Given the description of an element on the screen output the (x, y) to click on. 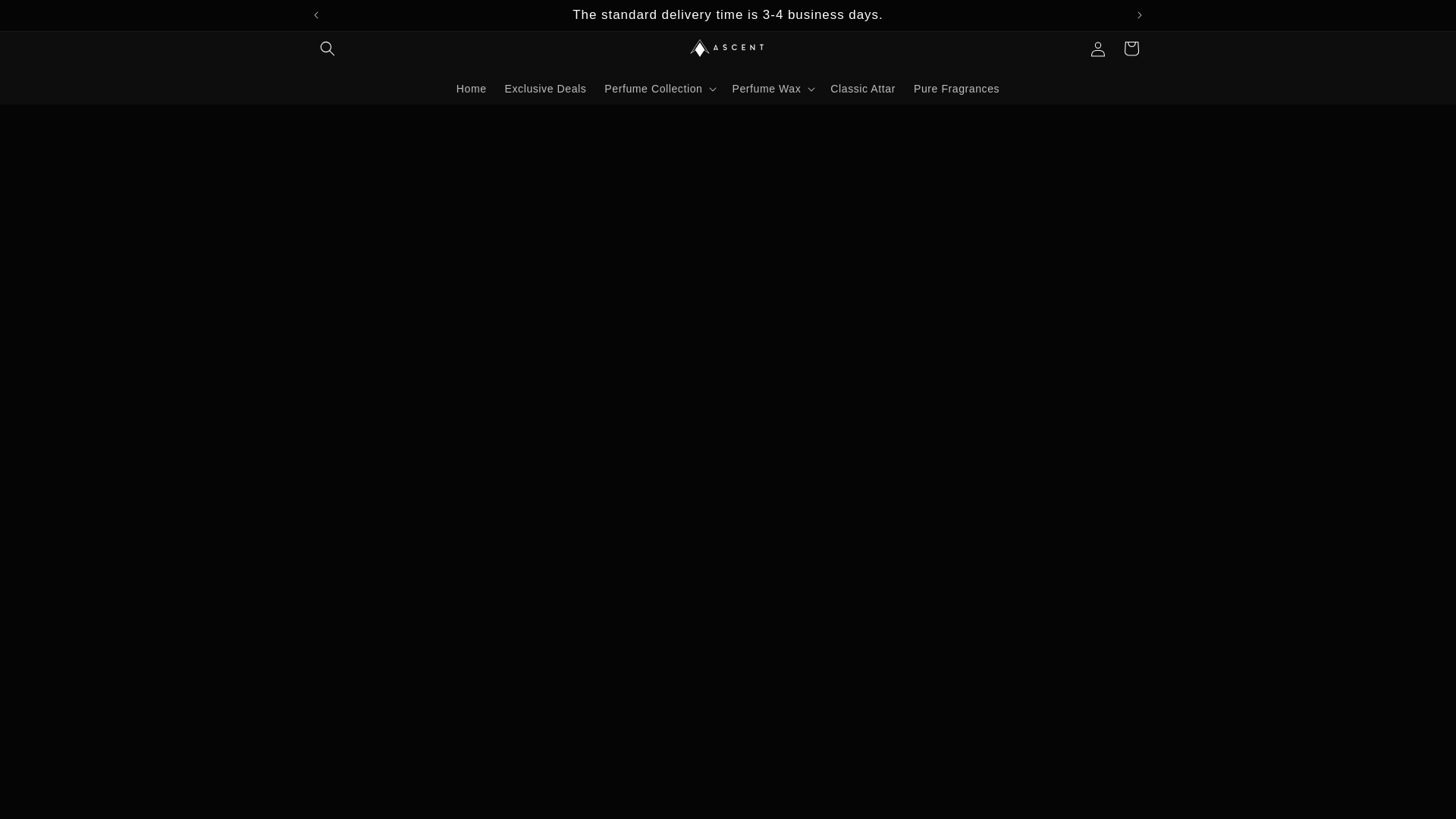
Cart (1131, 48)
Classic Attar (862, 88)
Pure Fragrances (956, 88)
Exclusive Deals (545, 88)
Log in (1098, 48)
Home (471, 88)
Skip to content (45, 17)
